Given the description of an element on the screen output the (x, y) to click on. 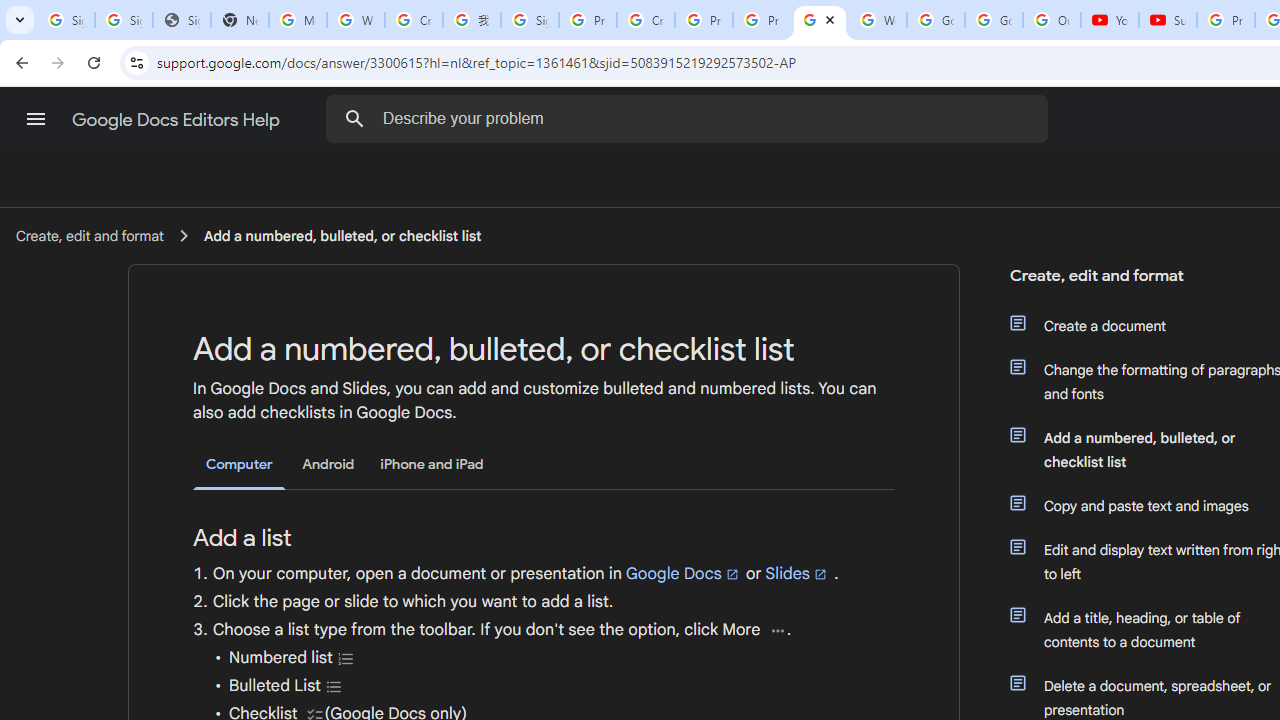
System (10, 11)
Sign In - USA TODAY (181, 20)
Forward (57, 62)
Google Docs Editors Help (177, 119)
Numbered list (345, 658)
Sign in - Google Accounts (65, 20)
Welcome to My Activity (877, 20)
Sign in - Google Accounts (123, 20)
Create, edit and format (89, 235)
